Given the description of an element on the screen output the (x, y) to click on. 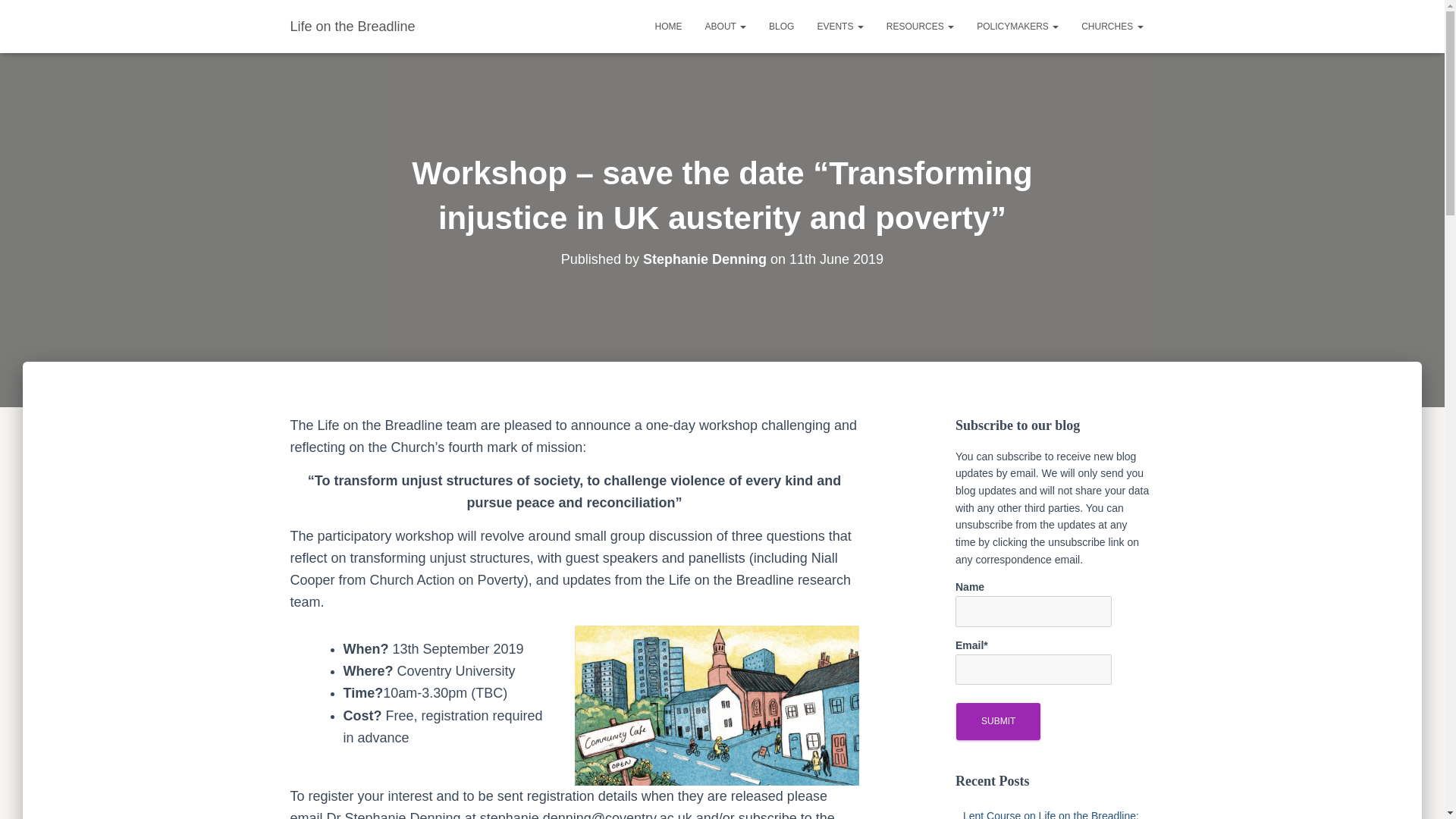
HOME (668, 26)
About (725, 26)
EVENTS (840, 26)
Life on the Breadline (352, 26)
Events (840, 26)
RESOURCES (920, 26)
Submit (998, 721)
Stephanie Denning (705, 258)
POLICYMAKERS (1017, 26)
Resources (920, 26)
BLOG (781, 26)
Life on the Breadline (352, 26)
CHURCHES (1112, 26)
ABOUT (725, 26)
Home (668, 26)
